Given the description of an element on the screen output the (x, y) to click on. 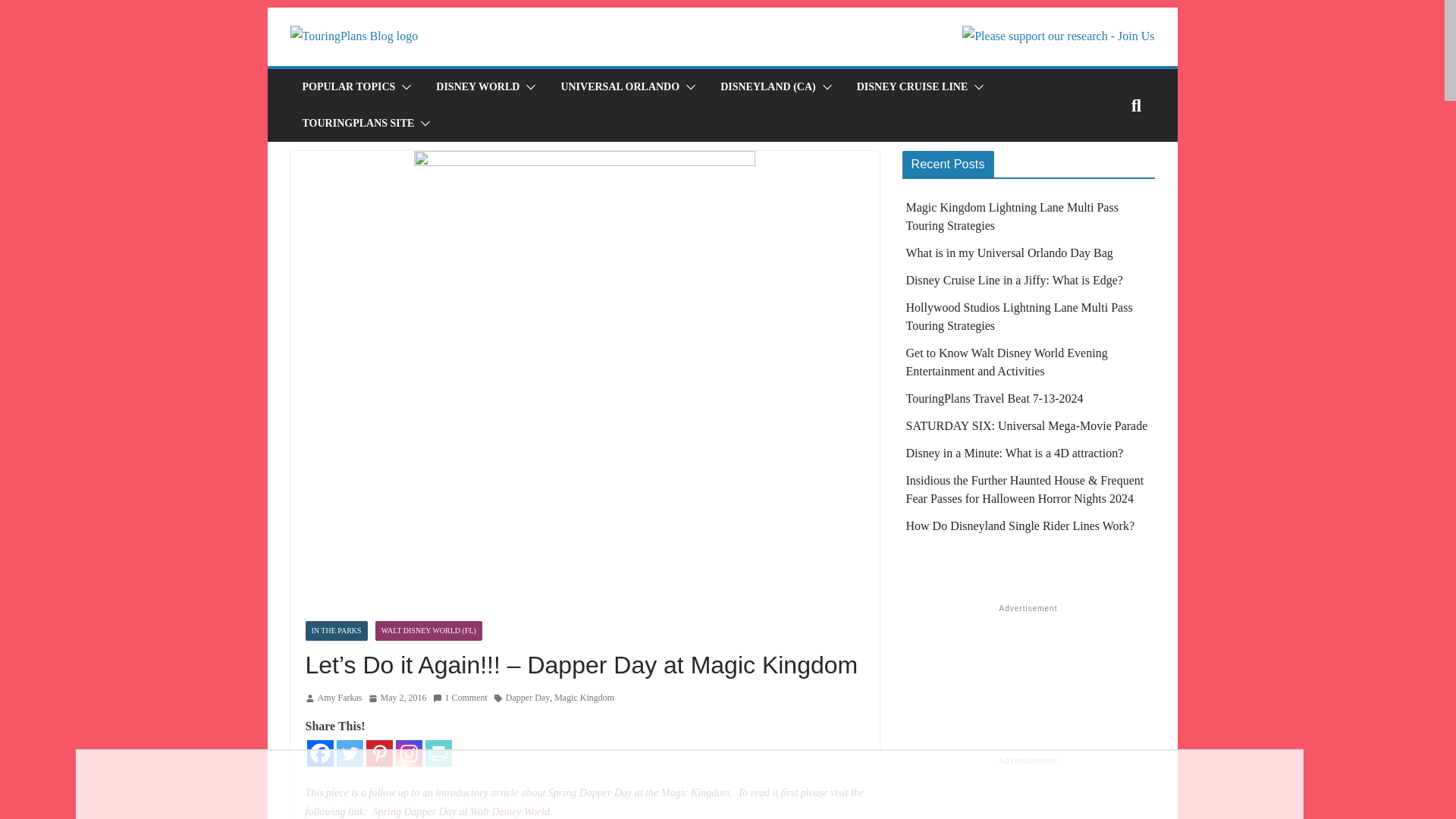
DISNEY CRUISE LINE (912, 86)
7:00 am (397, 698)
Facebook (319, 753)
Amy Farkas (339, 698)
TOURINGPLANS SITE (357, 123)
PrintFriendly (438, 753)
UNIVERSAL ORLANDO (619, 86)
Instagram (409, 753)
Twitter (349, 753)
DISNEY WORLD (477, 86)
POPULAR TOPICS (347, 86)
